Given the description of an element on the screen output the (x, y) to click on. 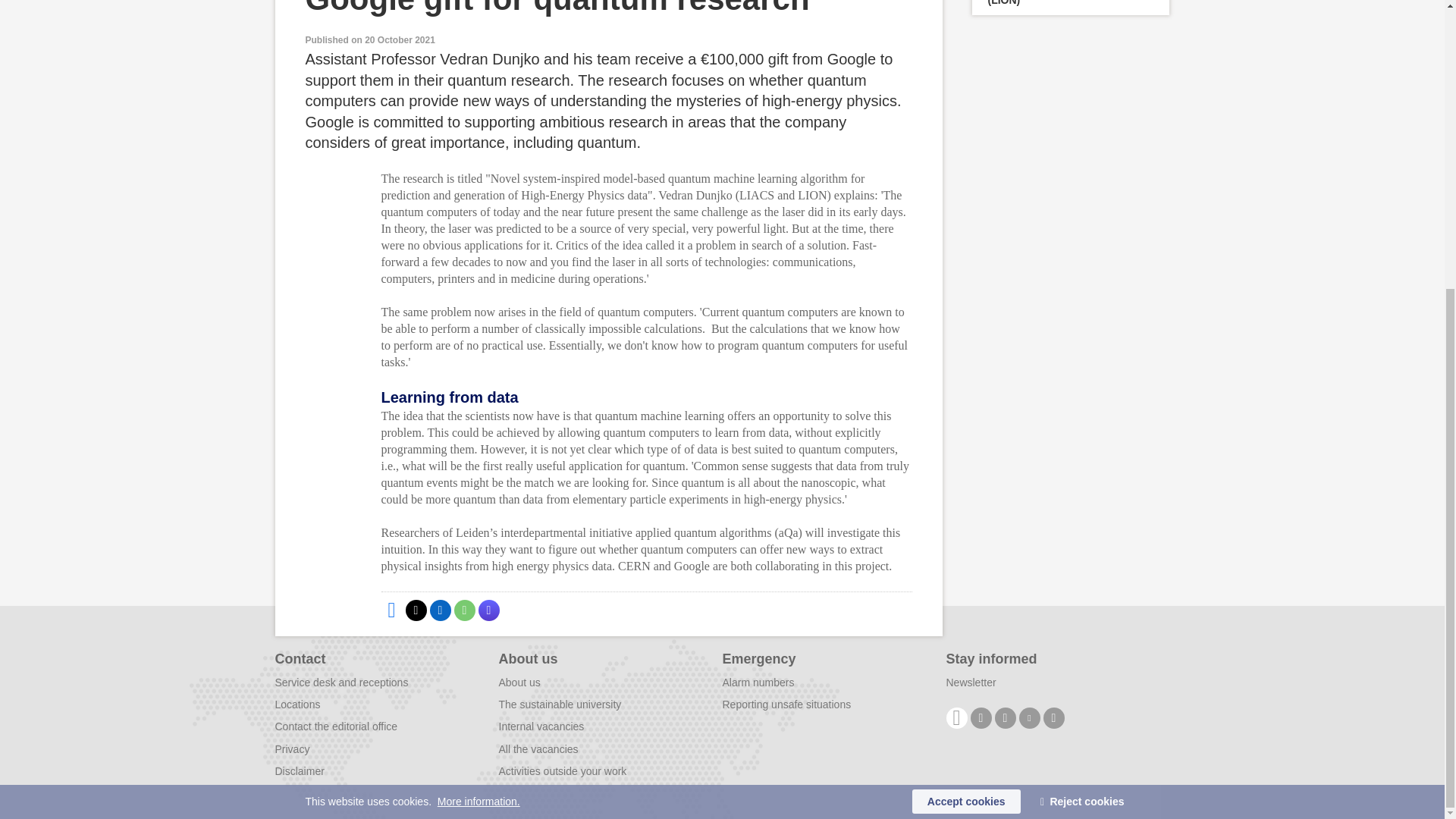
Share by WhatsApp (463, 609)
Share by Mastodon (488, 609)
Contact the editorial office (336, 726)
Share on X (415, 609)
Share on Facebook (390, 609)
Disclaimer (299, 770)
About us (519, 682)
Locations (297, 704)
Service desk and receptions (341, 682)
Share on LinkedIn (439, 609)
